Given the description of an element on the screen output the (x, y) to click on. 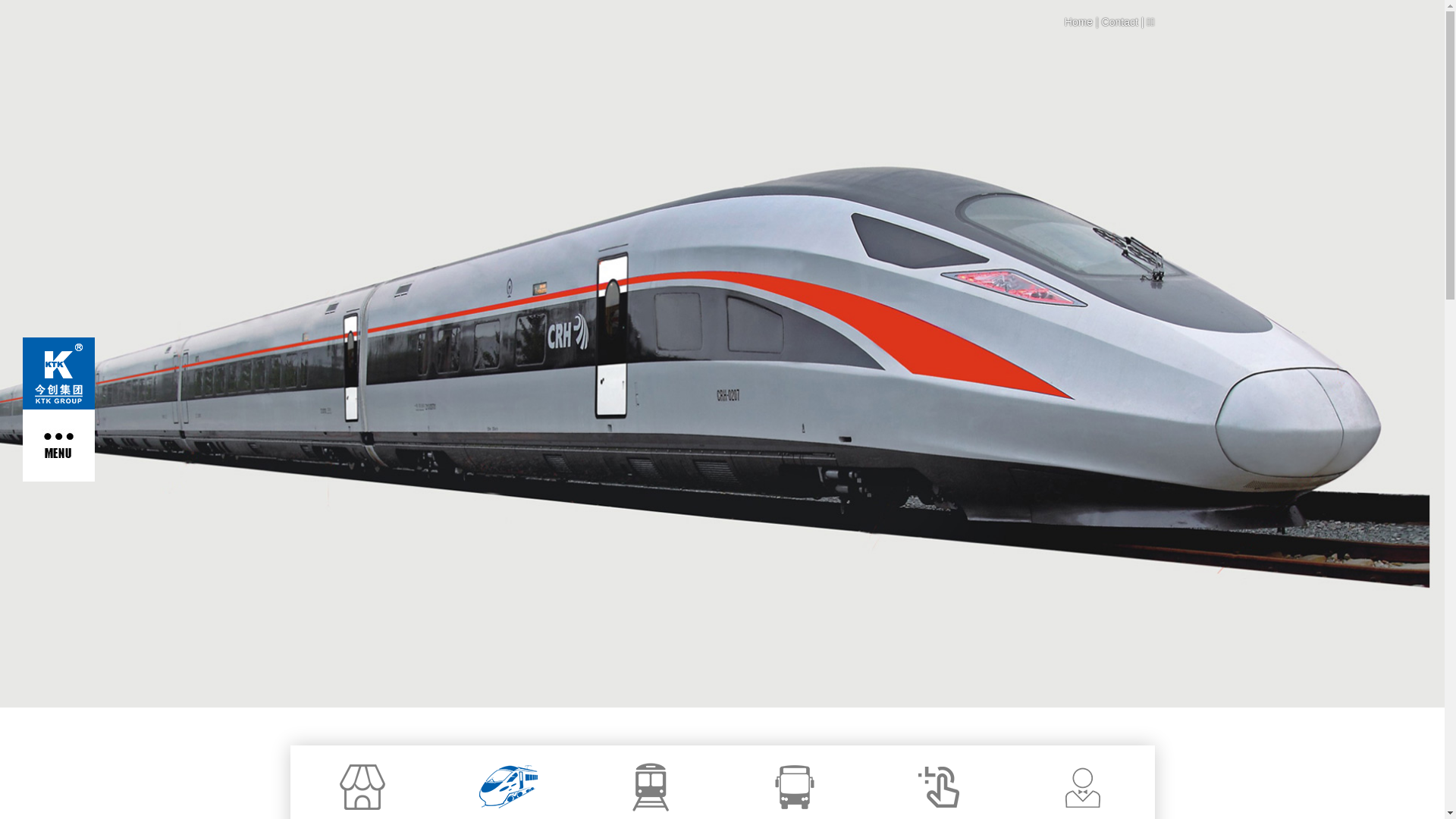
Home Element type: text (1078, 21)
Contact Element type: text (1119, 21)
| Element type: text (1096, 21)
